Given the description of an element on the screen output the (x, y) to click on. 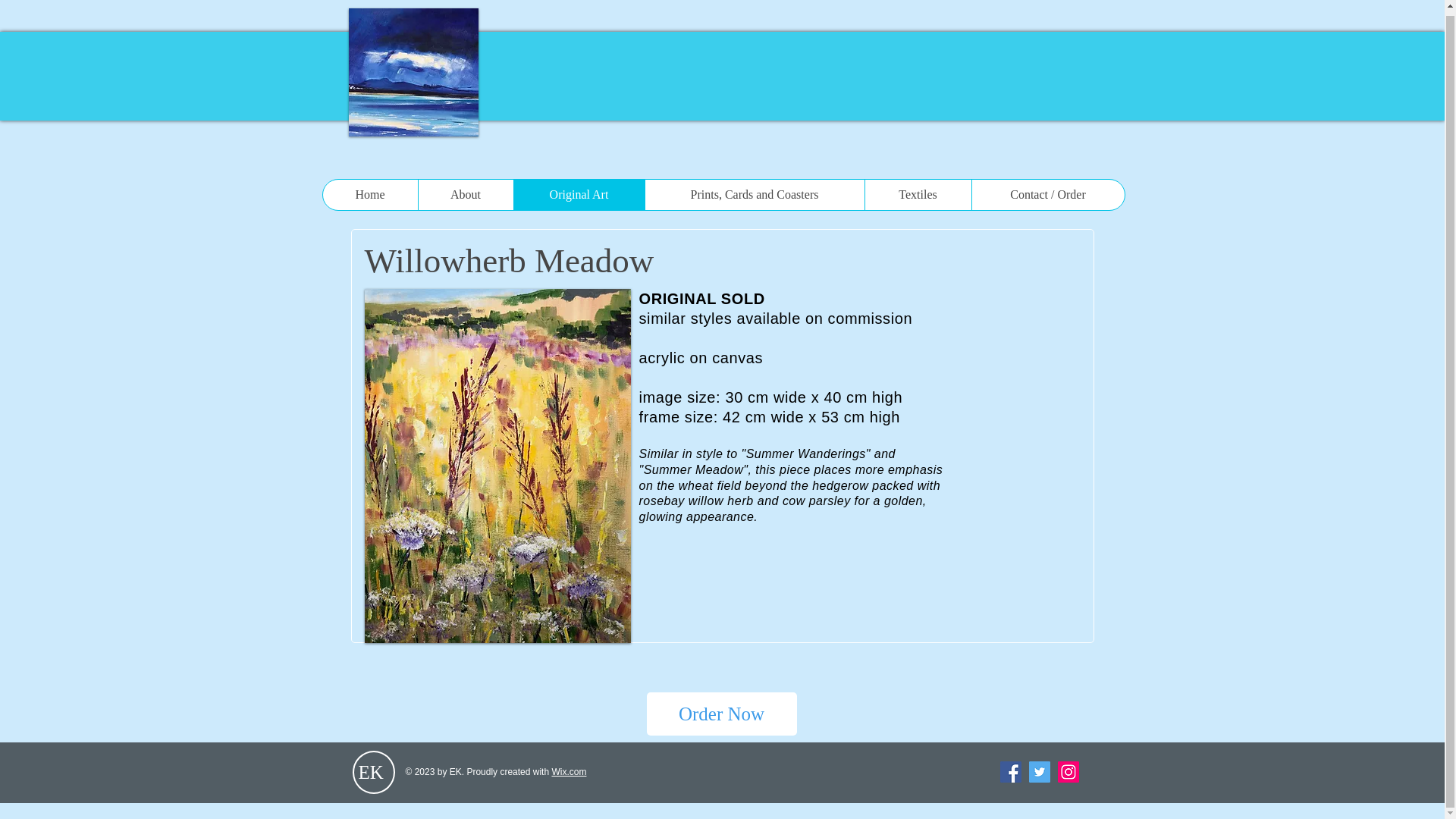
Prints, Cards and Coasters (754, 194)
Original Art (577, 194)
About (464, 194)
Home (370, 194)
Textiles (917, 194)
